Given the description of an element on the screen output the (x, y) to click on. 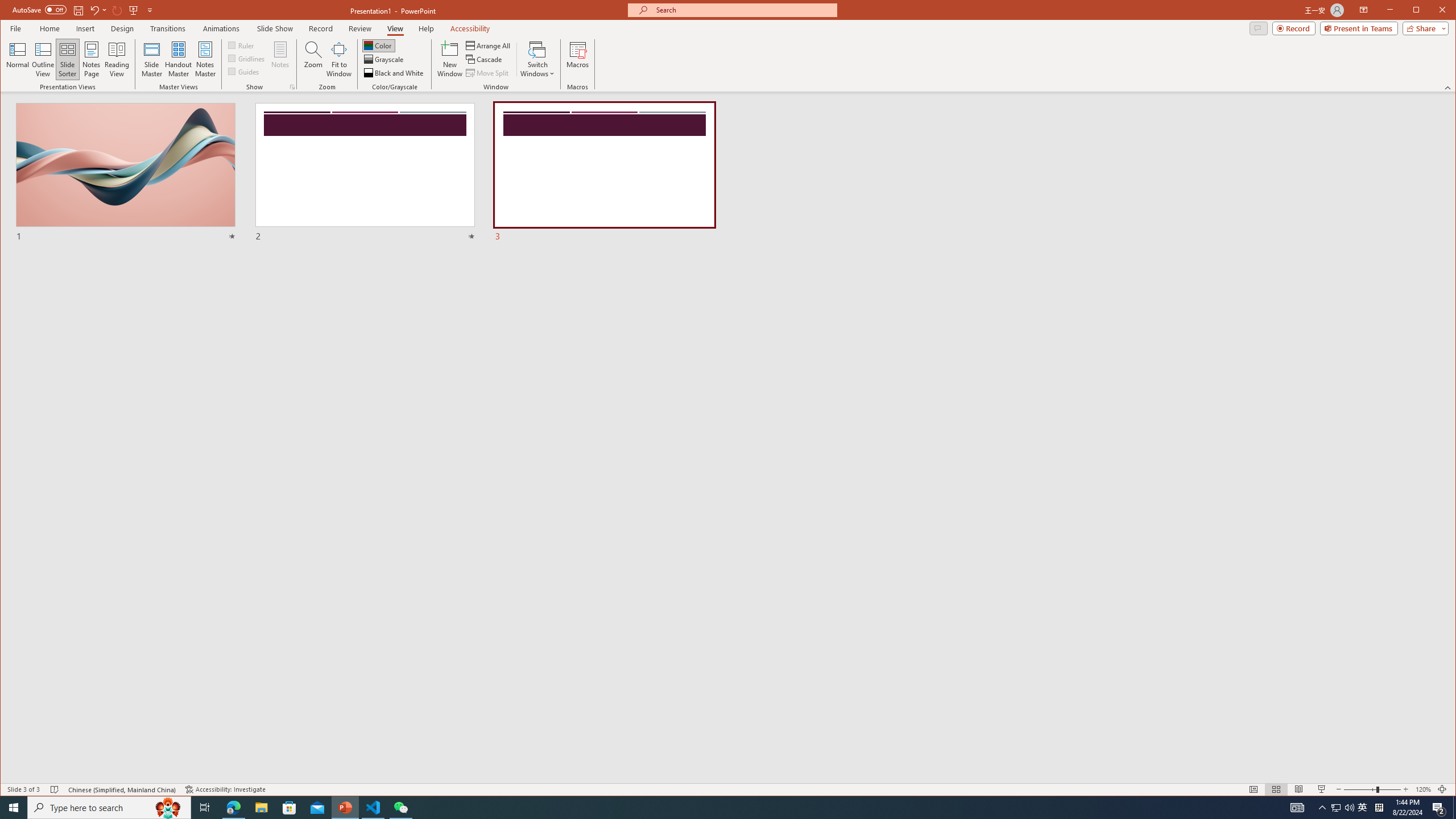
Grid Settings... (292, 86)
